Given the description of an element on the screen output the (x, y) to click on. 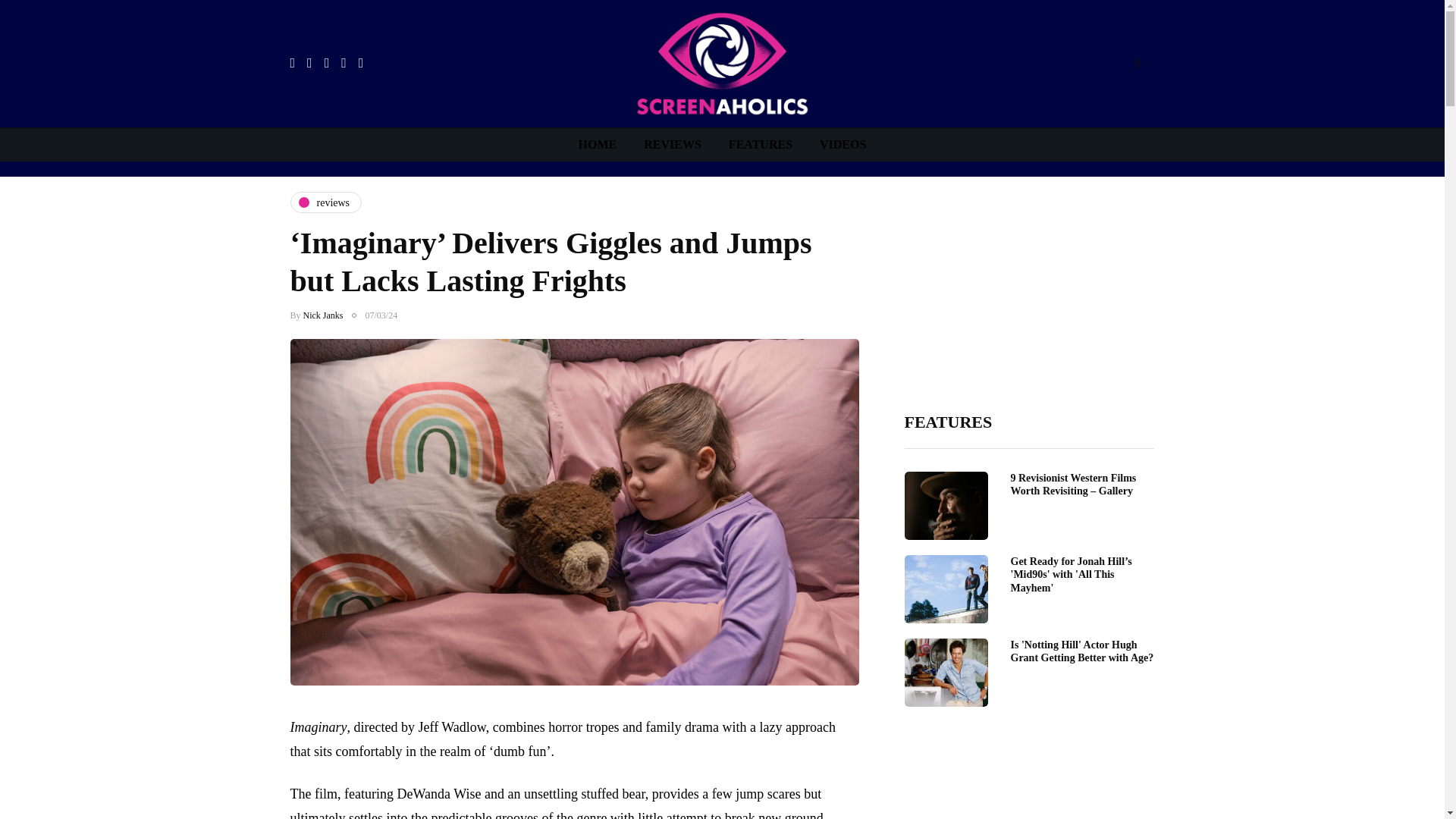
HOME (597, 144)
Posts by Nick Janks (322, 315)
VIDEOS (842, 144)
reviews (325, 201)
Is 'Notting Hill' Actor Hugh Grant Getting Better with Age? (1081, 651)
Nick Janks (322, 315)
FEATURES (760, 144)
REVIEWS (672, 144)
